Given the description of an element on the screen output the (x, y) to click on. 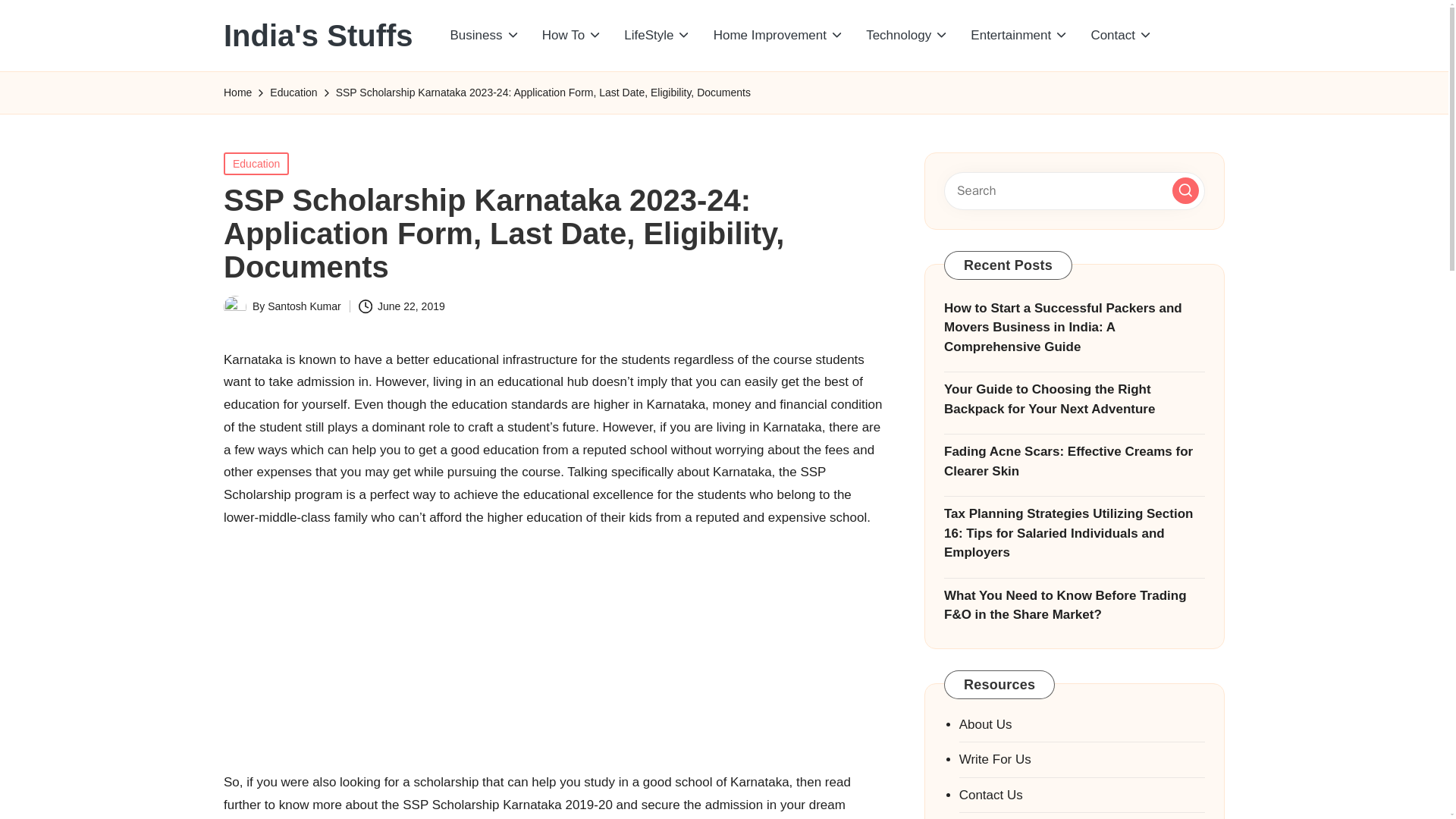
Advertisement (555, 645)
India's Stuffs (318, 35)
View all posts by Santosh Kumar (303, 306)
